Given the description of an element on the screen output the (x, y) to click on. 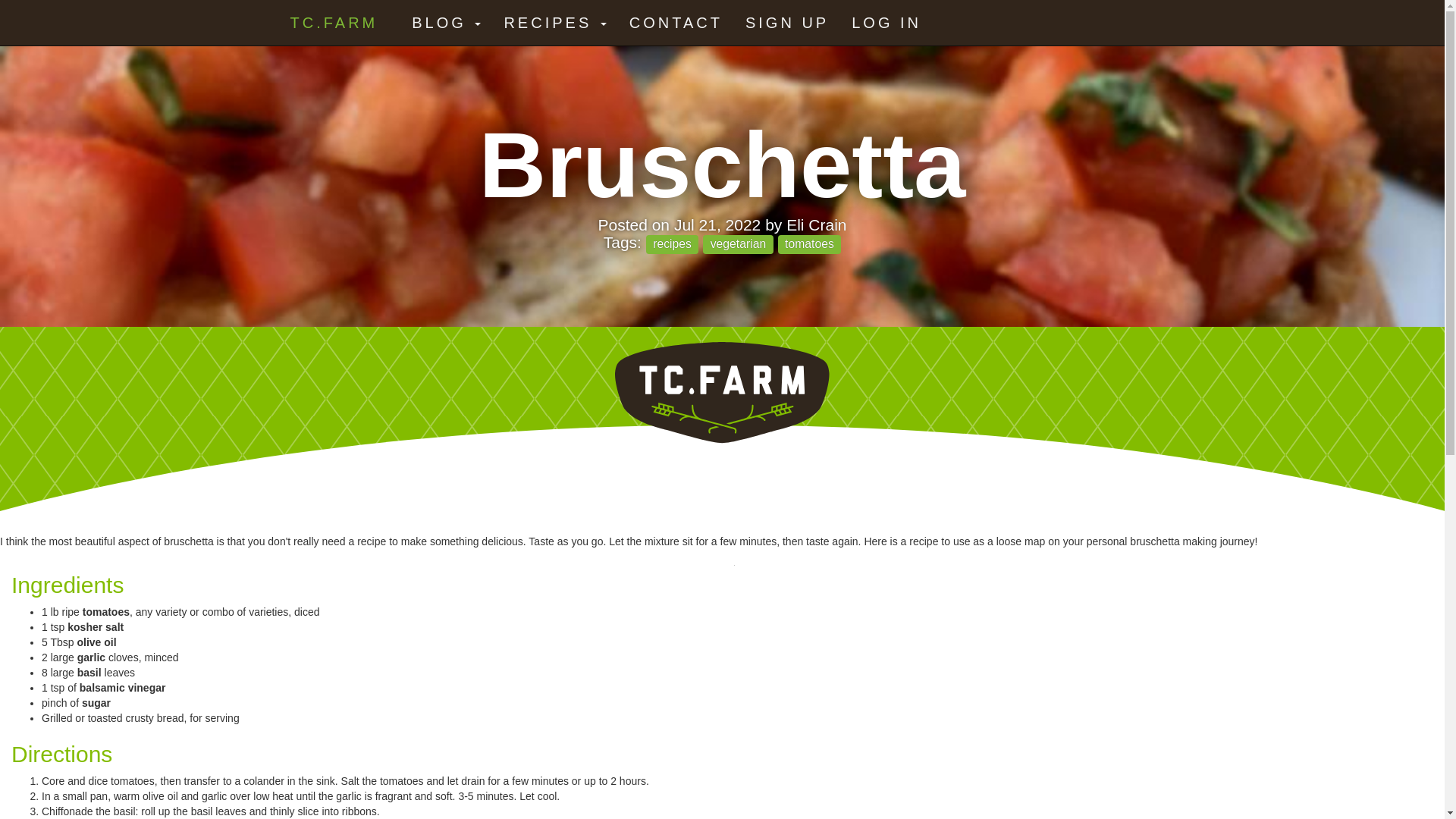
BLOG (446, 22)
recipes (671, 243)
Cookbook (554, 22)
LOG IN (886, 22)
SIGN UP (786, 22)
CONTACT (675, 22)
RECIPES (554, 22)
TC.FARM (333, 18)
Blog (446, 22)
Eli Crain (815, 224)
